Given the description of an element on the screen output the (x, y) to click on. 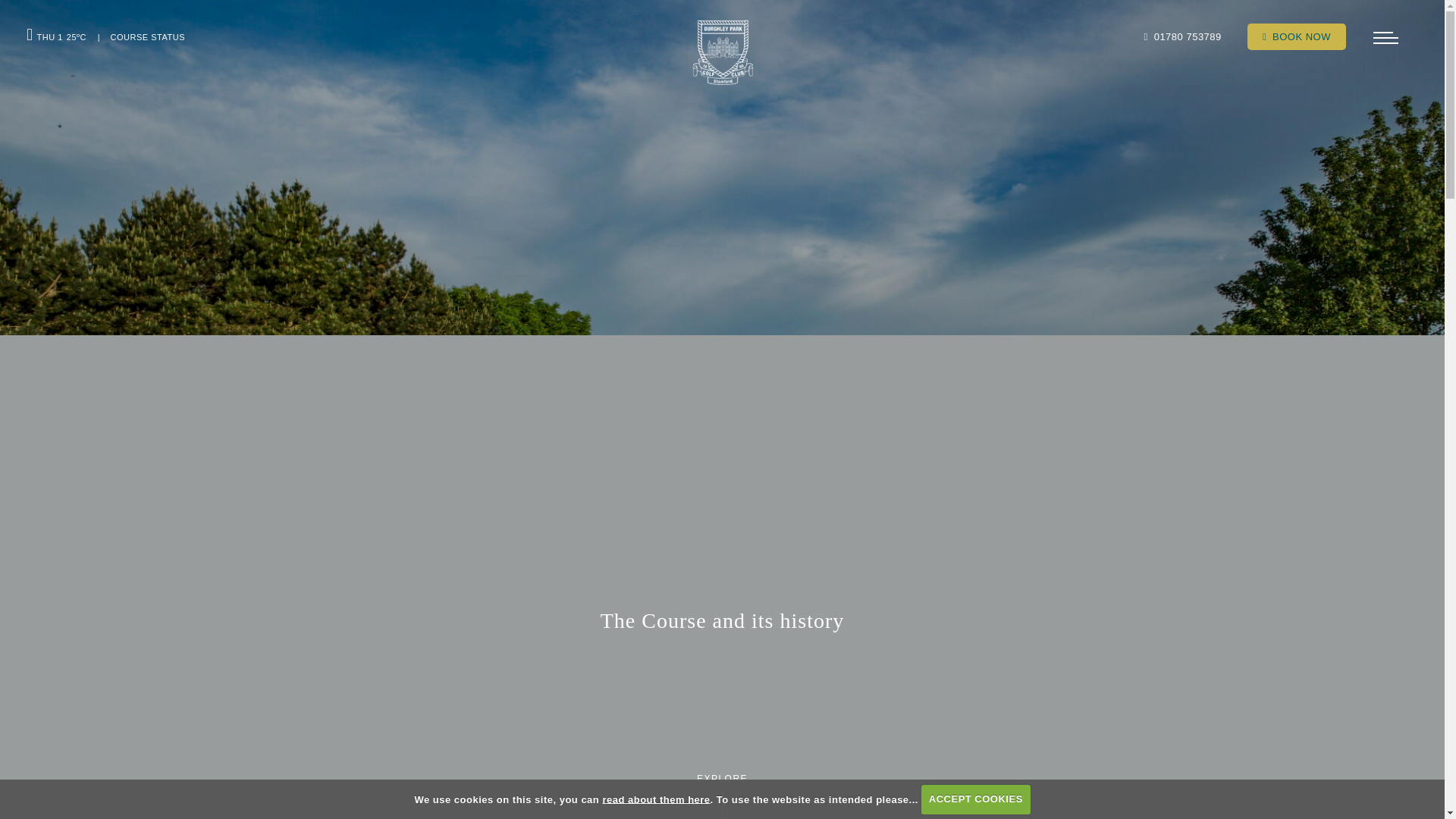
  BOOK NOW (1296, 36)
EXPLORE (721, 781)
read about our cookies (656, 798)
Menu (1385, 38)
